Given the description of an element on the screen output the (x, y) to click on. 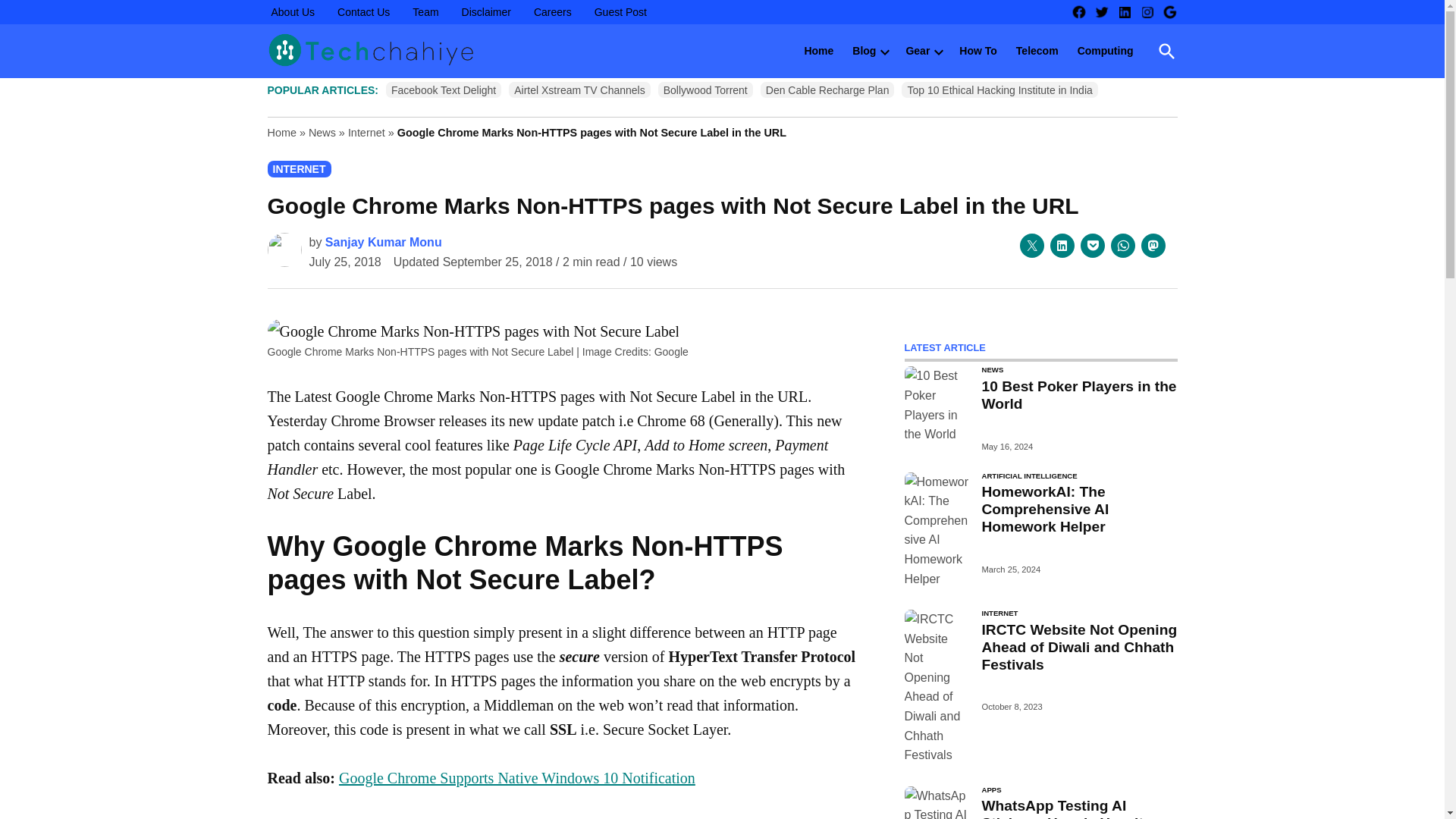
Click to share on LinkedIn (1061, 245)
Click to share on X (1031, 245)
Team (425, 11)
About Us (292, 11)
Disclaimer (486, 11)
Click to share on WhatsApp (1121, 245)
Facebook (1078, 12)
Guest Post (620, 11)
Click to share on Pocket (1091, 245)
Click to share on Mastodon (1152, 245)
Contact Us (363, 11)
Careers (552, 11)
